Given the description of an element on the screen output the (x, y) to click on. 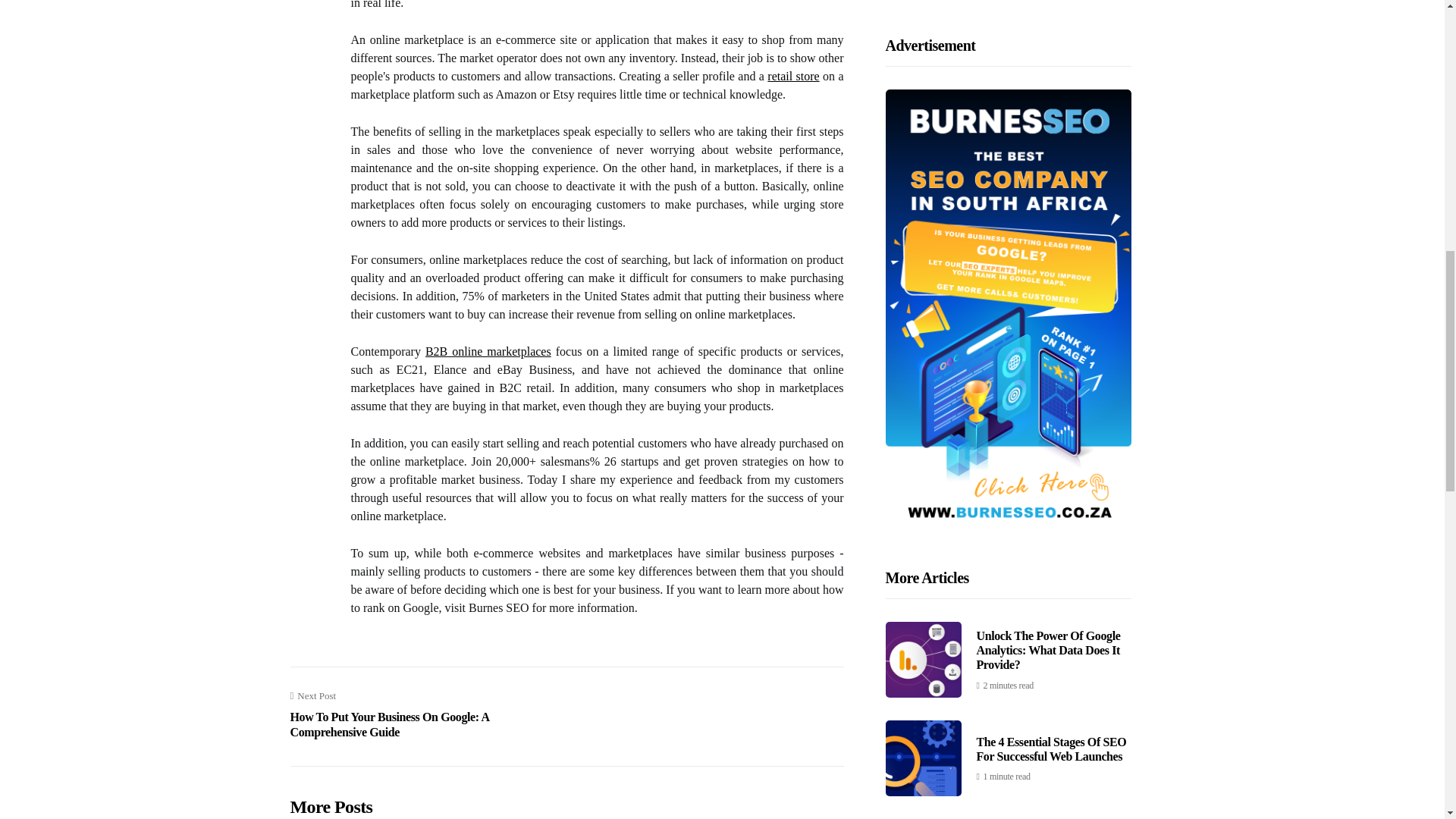
B2B online marketplaces (488, 350)
retail store (792, 75)
Are Google Ads And Google Adwords The Same? (1045, 122)
Marketing Agencies (1025, 220)
The 4 Essential Stages Of SEO For Successful Web Launches (1051, 23)
